Given the description of an element on the screen output the (x, y) to click on. 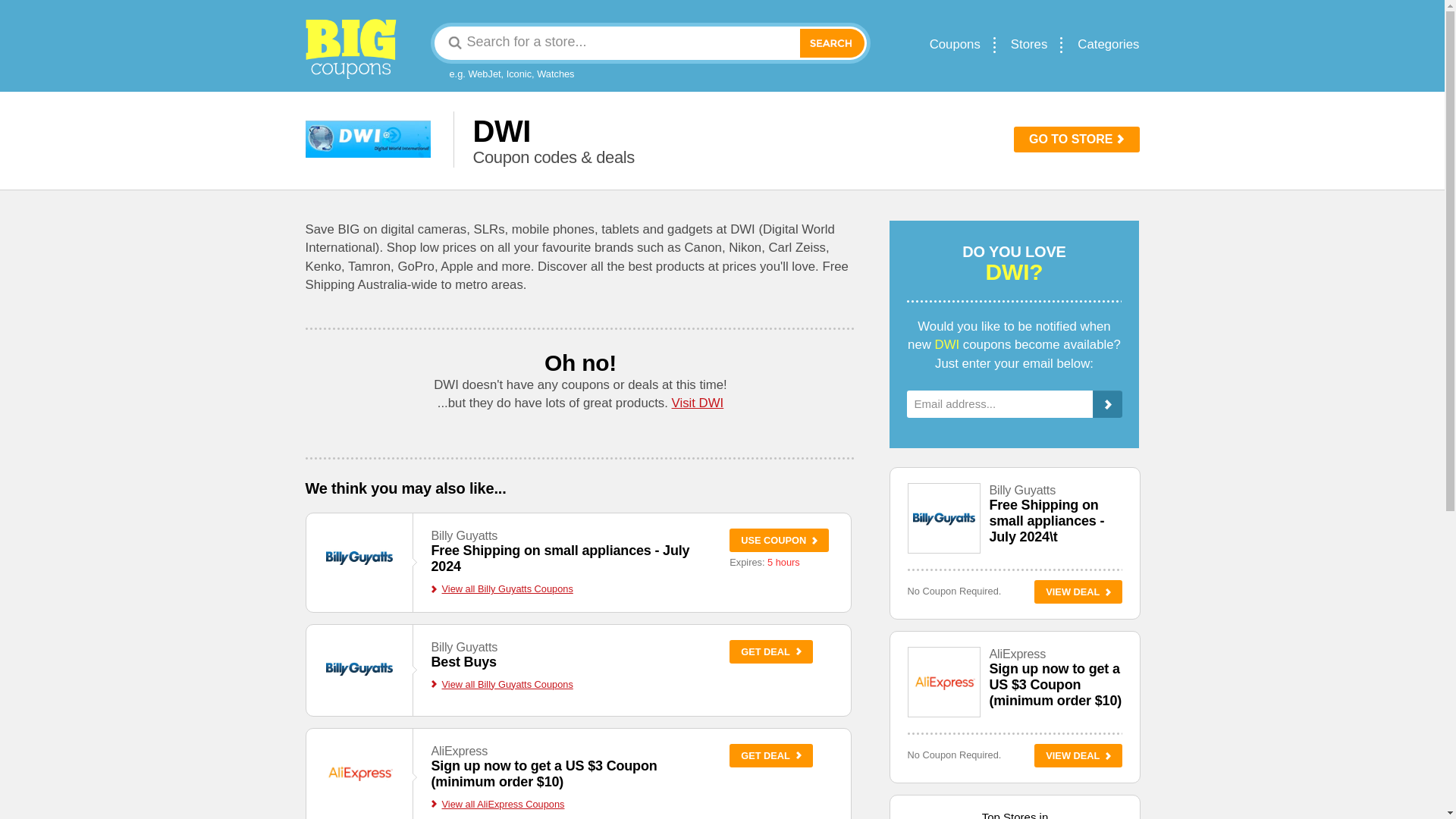
GET DEAL (770, 651)
GO TO STORE (1076, 139)
USE COUPON (778, 540)
Stores (1028, 44)
VIEW DEAL (1077, 591)
GET DEAL (770, 755)
View all Billy Guyatts Coupons (501, 588)
Coupons (954, 44)
VIEW DEAL (1077, 755)
View all Billy Guyatts Coupons (501, 684)
Visit DWI (463, 661)
View all AliExpress Coupons (559, 558)
